Given the description of an element on the screen output the (x, y) to click on. 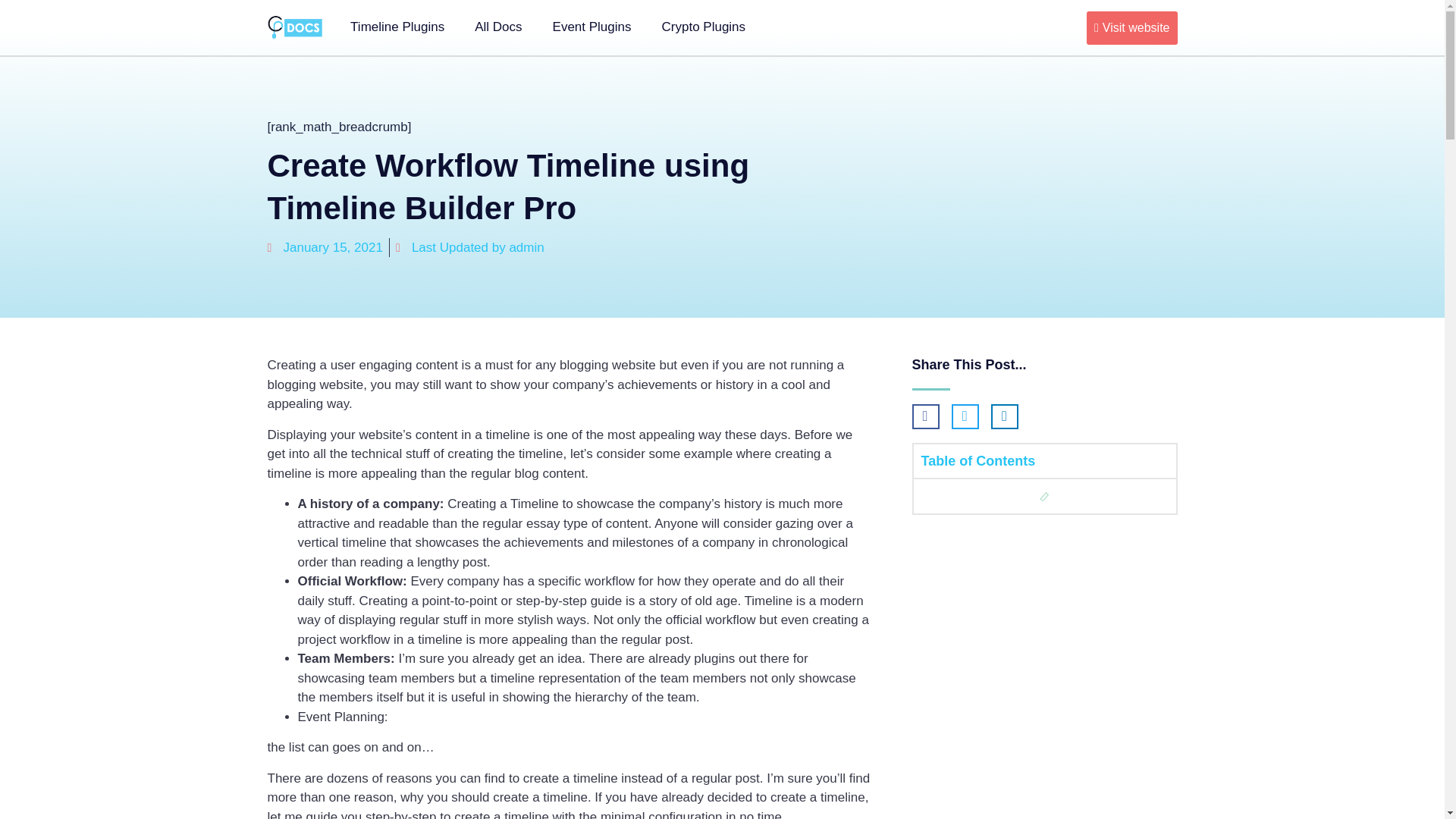
Visit website (1131, 27)
Event Plugins (591, 27)
All Docs (498, 27)
Crypto Plugins (703, 27)
Timeline Plugins (397, 27)
